Given the description of an element on the screen output the (x, y) to click on. 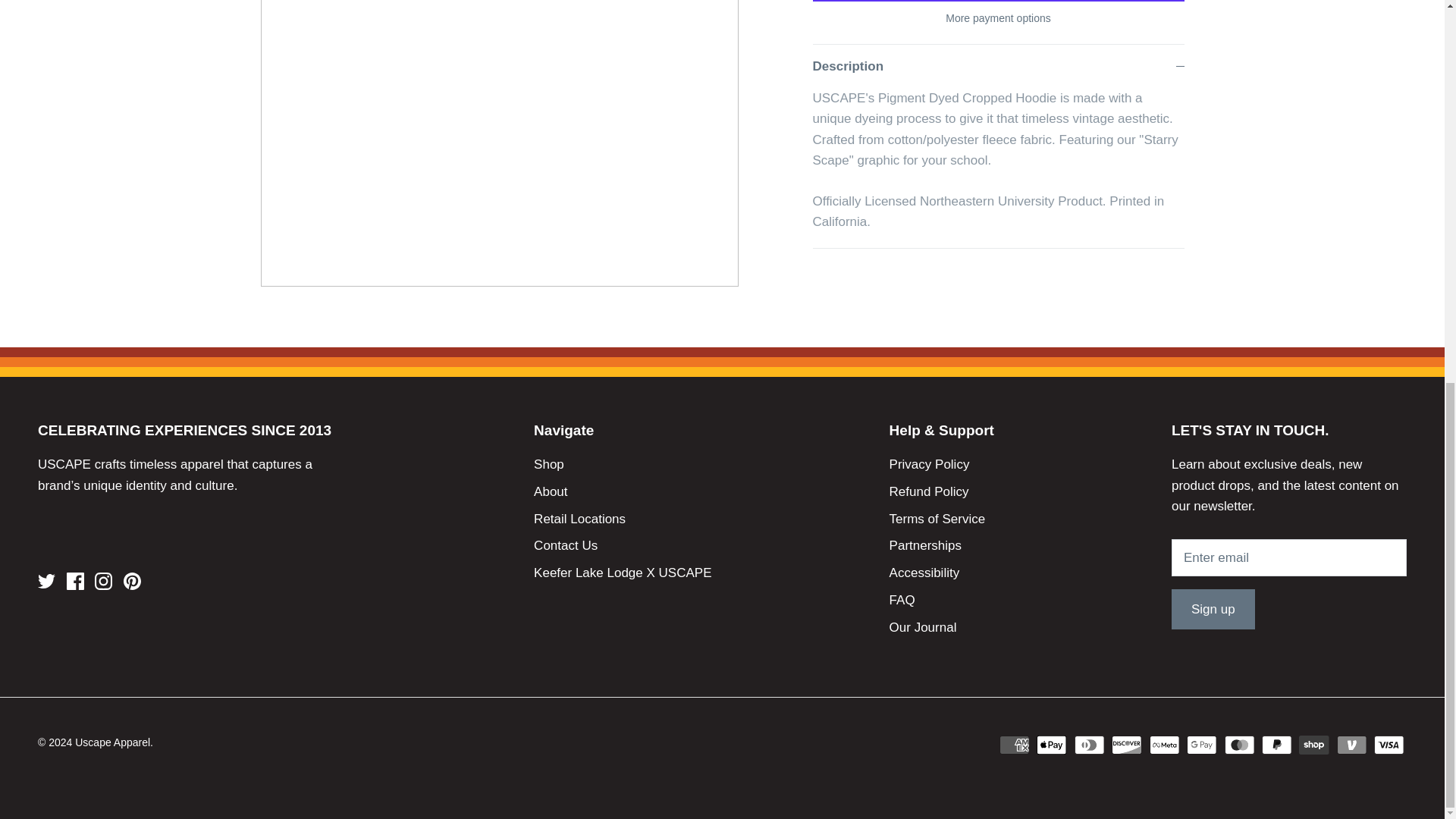
Diners Club (1089, 744)
American Express (1013, 744)
Apple Pay (1051, 744)
Facebook (75, 580)
Meta Pay (1164, 744)
Pinterest (132, 580)
Discover (1126, 744)
Instagram (103, 580)
Google Pay (1201, 744)
Twitter (46, 580)
